Given the description of an element on the screen output the (x, y) to click on. 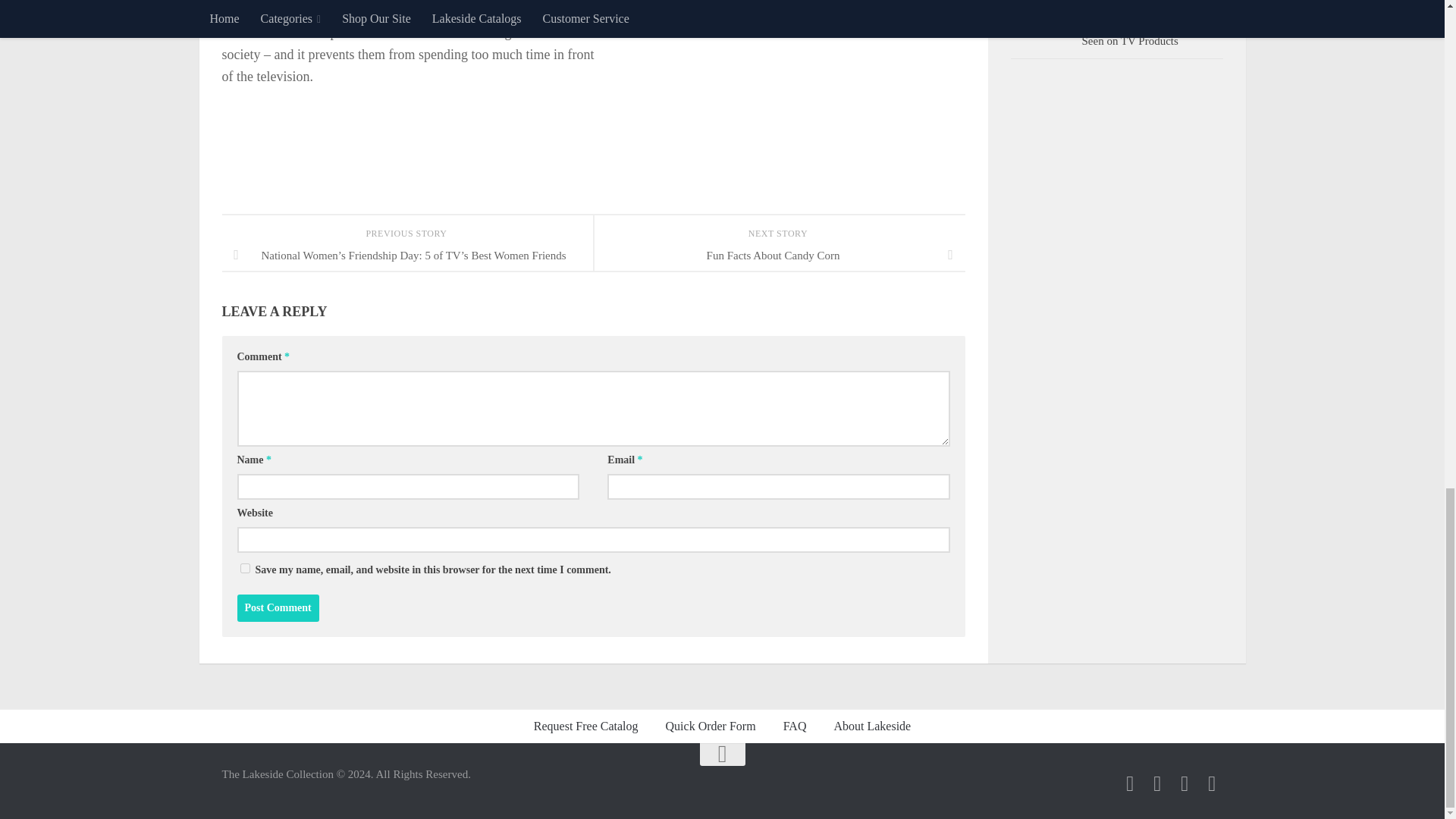
Follow Us On Instagram (1184, 783)
Post Comment (276, 607)
yes (244, 568)
Follow Us On Pinterest (1212, 783)
Follow Us On Twitter (1157, 783)
Follow Us On Facebook (1129, 783)
